Given the description of an element on the screen output the (x, y) to click on. 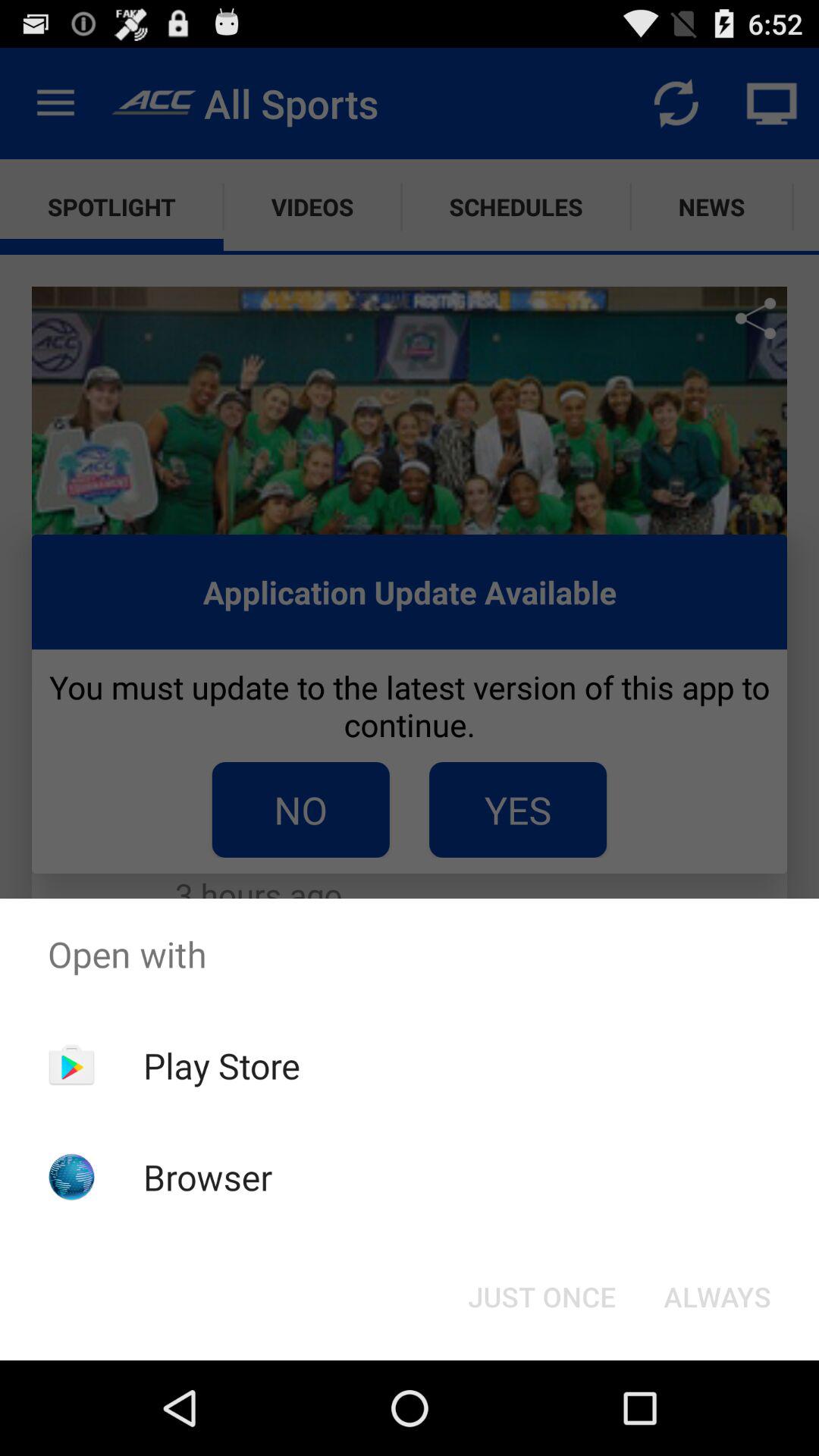
click the item above the browser (221, 1065)
